Given the description of an element on the screen output the (x, y) to click on. 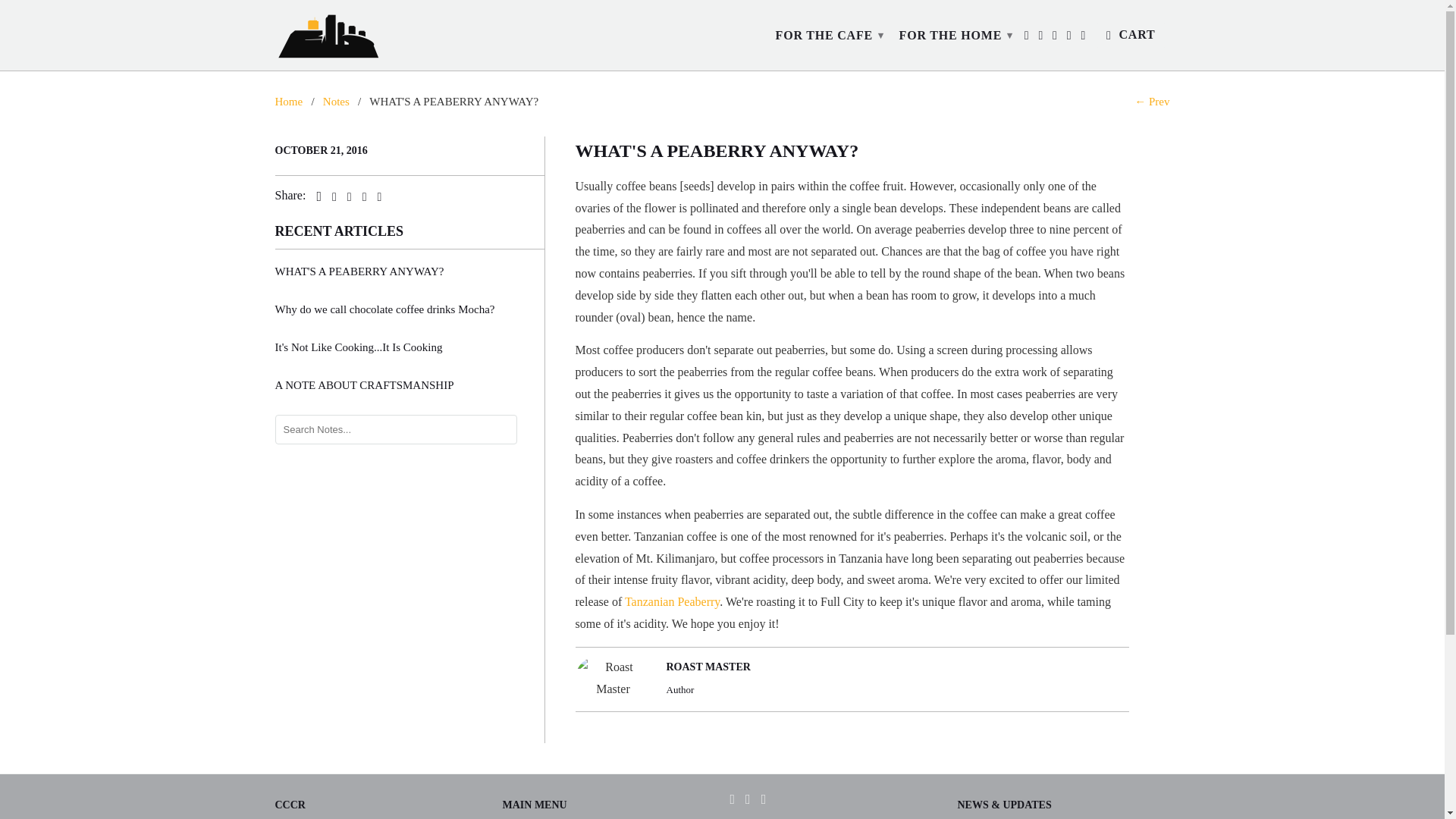
Share this on Pinterest (345, 196)
WHAT'S A PEABERRY ANYWAY? (409, 271)
Capital City Coffee Roasters (327, 34)
Share this on Facebook (330, 196)
Email this to a friend (375, 196)
Notes (336, 101)
WHAT'S A PEABERRY ANYWAY? (717, 150)
It's Not Like Cooking...It Is Cooking (409, 346)
Capital City Coffee Roasters (288, 101)
A NOTE ABOUT CRAFTSMANSHIP (409, 385)
Why do we call chocolate coffee drinks Mocha? (409, 309)
